Given the description of an element on the screen output the (x, y) to click on. 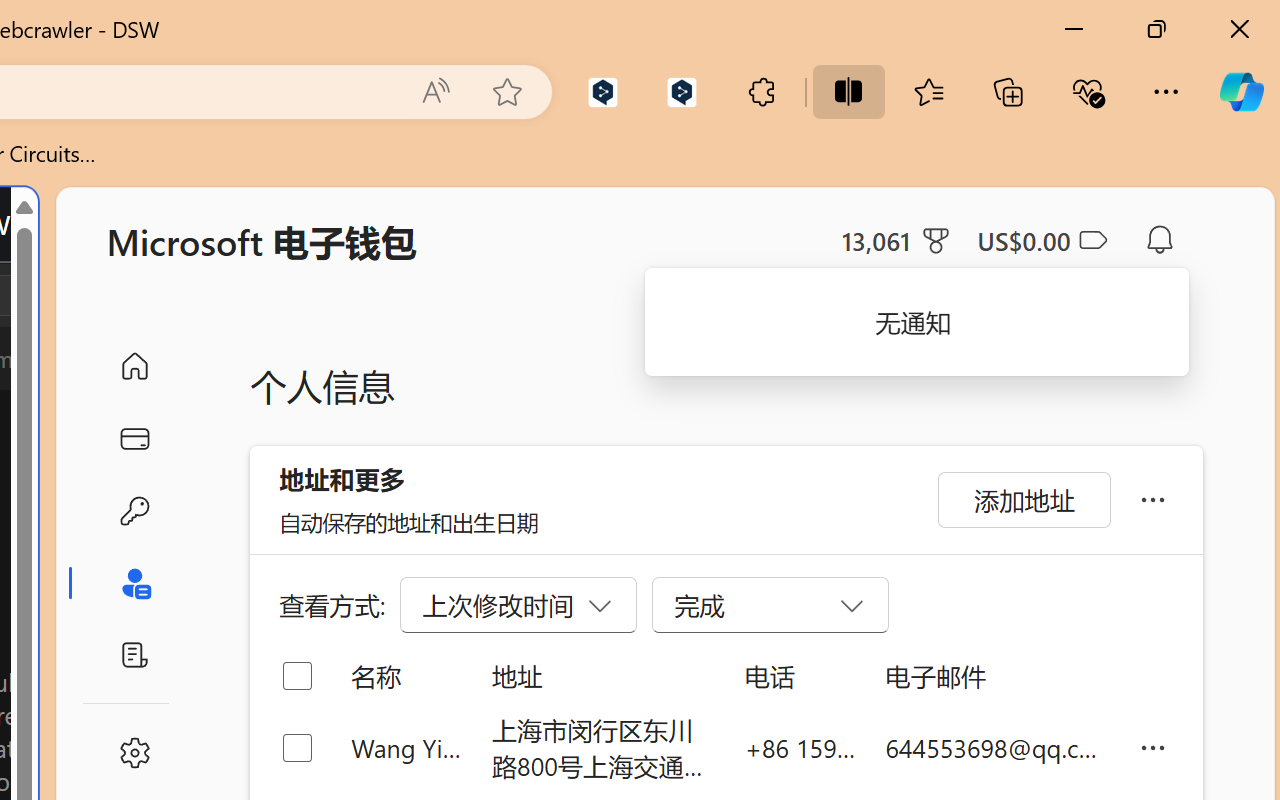
Class: ___1lmltc5 f1agt3bx f12qytpq (1092, 241)
Wang Yian (406, 747)
Class: actions-container (94, 295)
644553698@qq.com (996, 747)
